Given the description of an element on the screen output the (x, y) to click on. 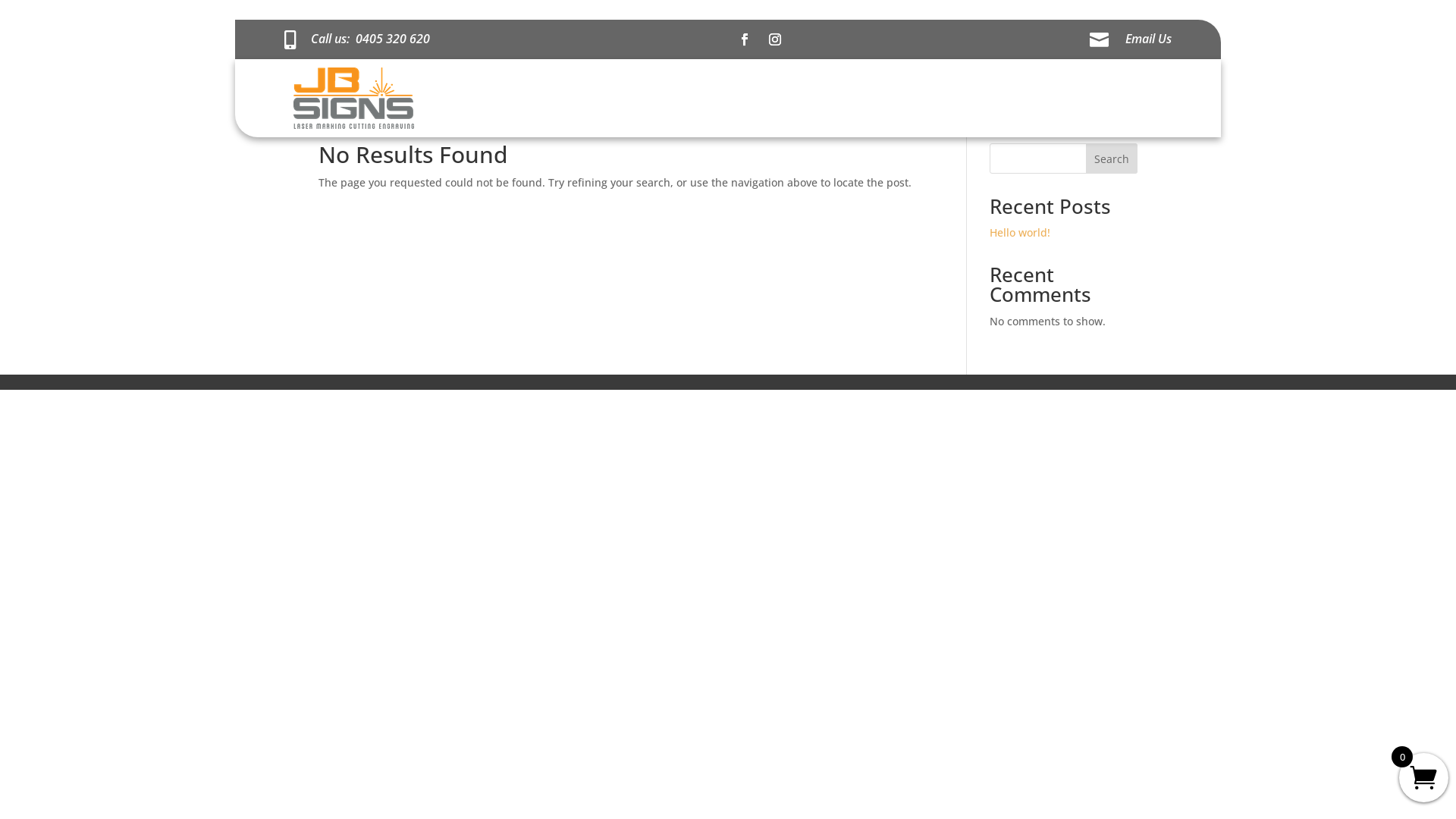
Email Us Element type: text (1148, 38)
Follow on Instagram Element type: hover (774, 39)
Search Element type: text (1111, 158)
Follow on Facebook Element type: hover (744, 39)
0405 320 620 Element type: text (392, 38)
Hello world! Element type: text (1019, 232)
HOME Element type: text (1142, 97)
